Given the description of an element on the screen output the (x, y) to click on. 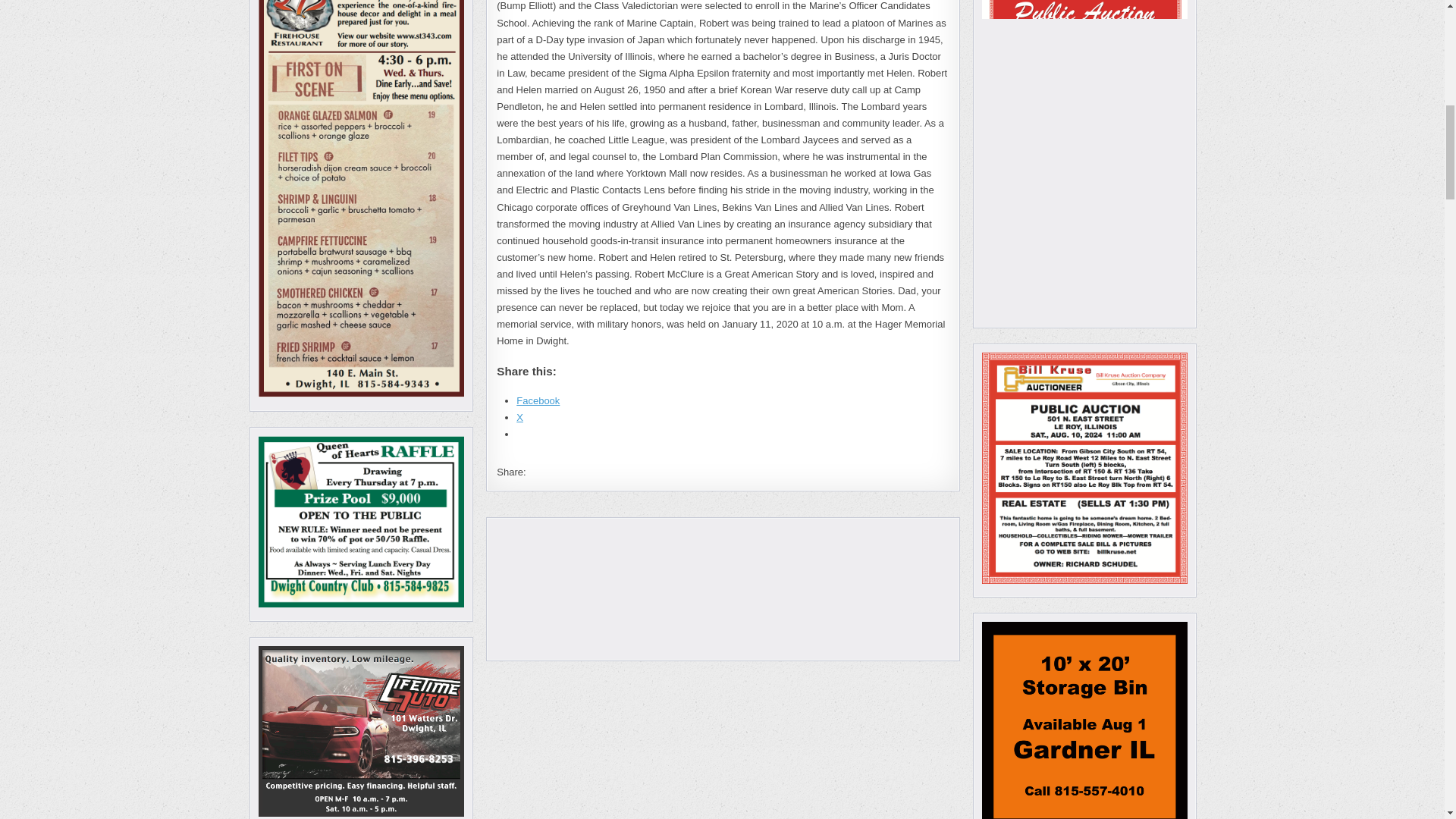
Click to share on Facebook (537, 400)
Advertisement (722, 588)
